Given the description of an element on the screen output the (x, y) to click on. 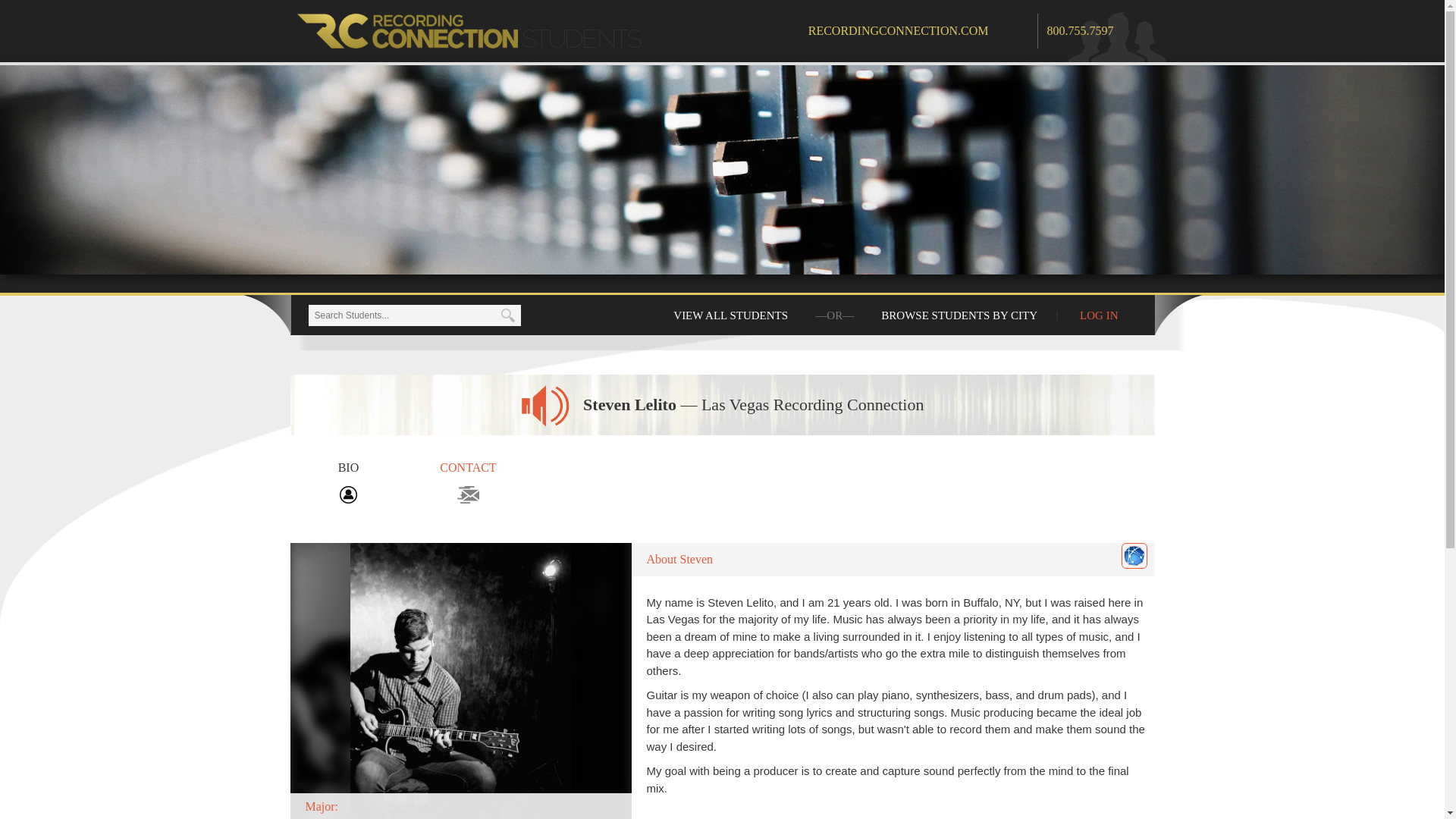
VIEW ALL STUDENTS (730, 315)
Major: (459, 680)
CONTACT (468, 480)
LOG IN (1098, 315)
800.755.7597 (1079, 30)
RECORDINGCONNECTION.COM (923, 30)
Steven Lelito's Website (1134, 555)
BIO (347, 480)
BROWSE STUDENTS BY CITY (959, 315)
